Given the description of an element on the screen output the (x, y) to click on. 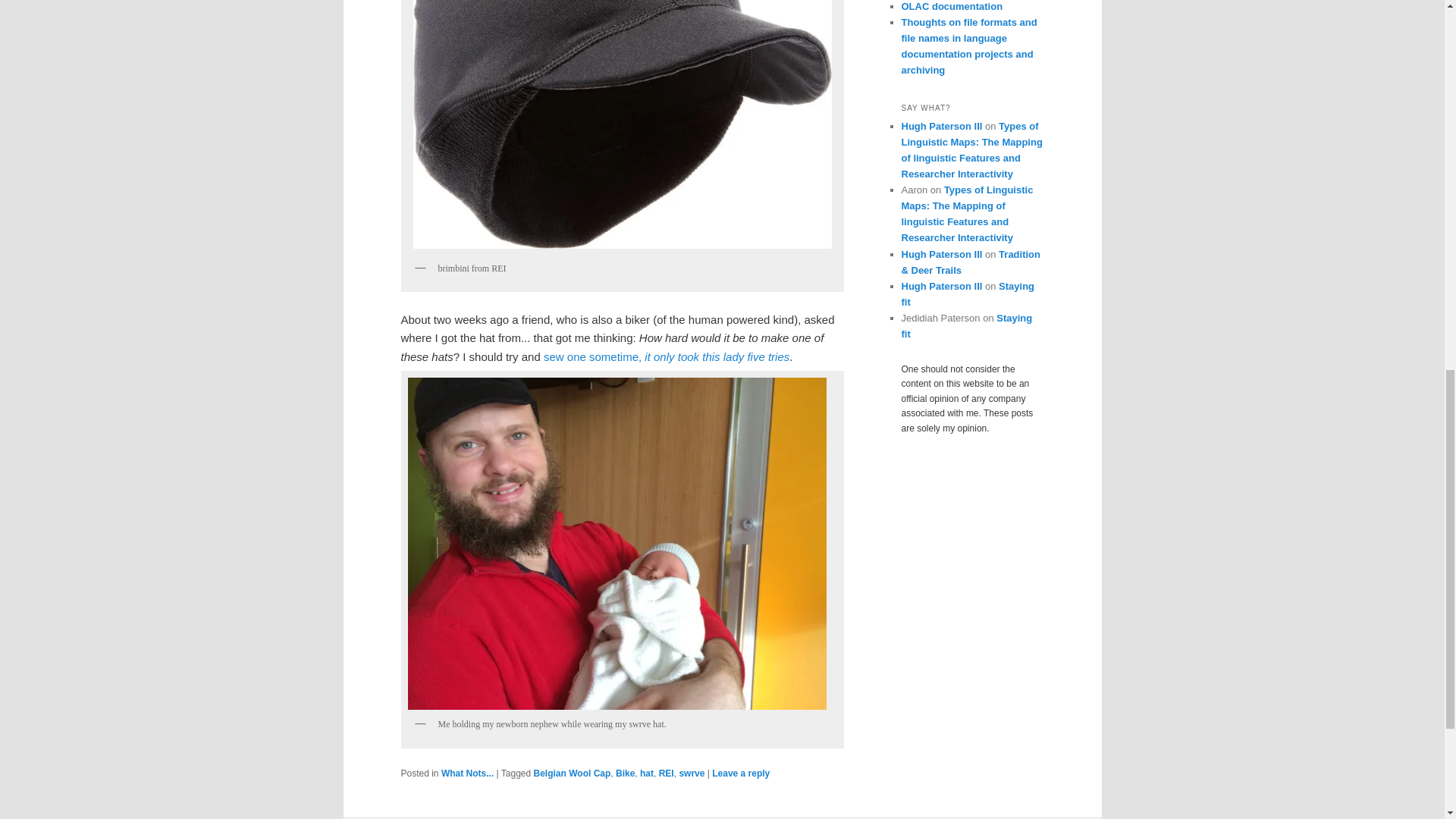
Bike (624, 773)
REI (666, 773)
hat (646, 773)
Belgian Wool Cap (572, 773)
What Nots... (467, 773)
Leave a reply (740, 773)
swrve (691, 773)
sew one sometime, it only took this lady five tries (666, 356)
